Given the description of an element on the screen output the (x, y) to click on. 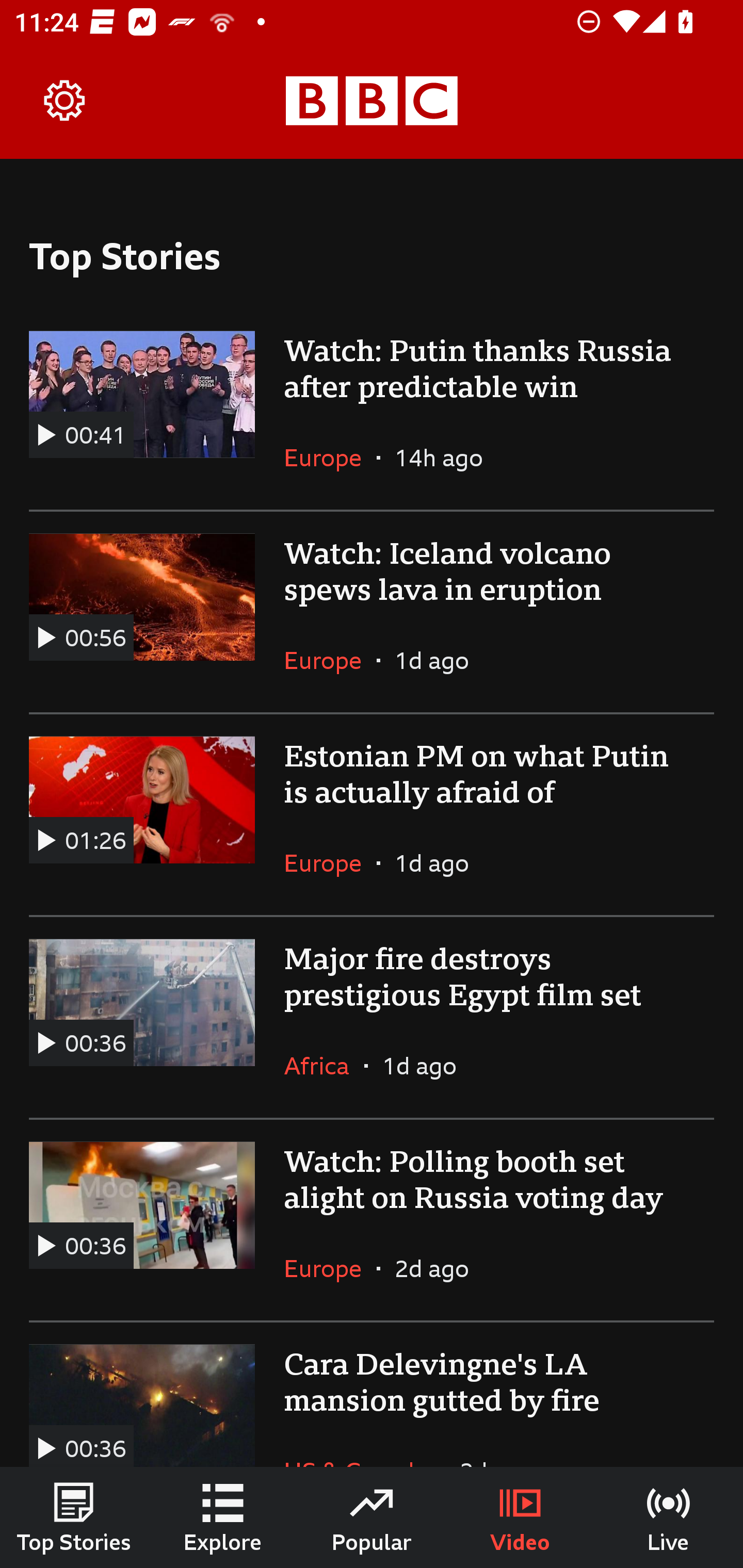
Settings (64, 100)
Europe In the section Europe (329, 457)
Europe In the section Europe (329, 659)
Europe In the section Europe (329, 862)
Africa In the section Africa (323, 1064)
Europe In the section Europe (329, 1268)
Top Stories (74, 1517)
Explore (222, 1517)
Popular (371, 1517)
Live (668, 1517)
